Given the description of an element on the screen output the (x, y) to click on. 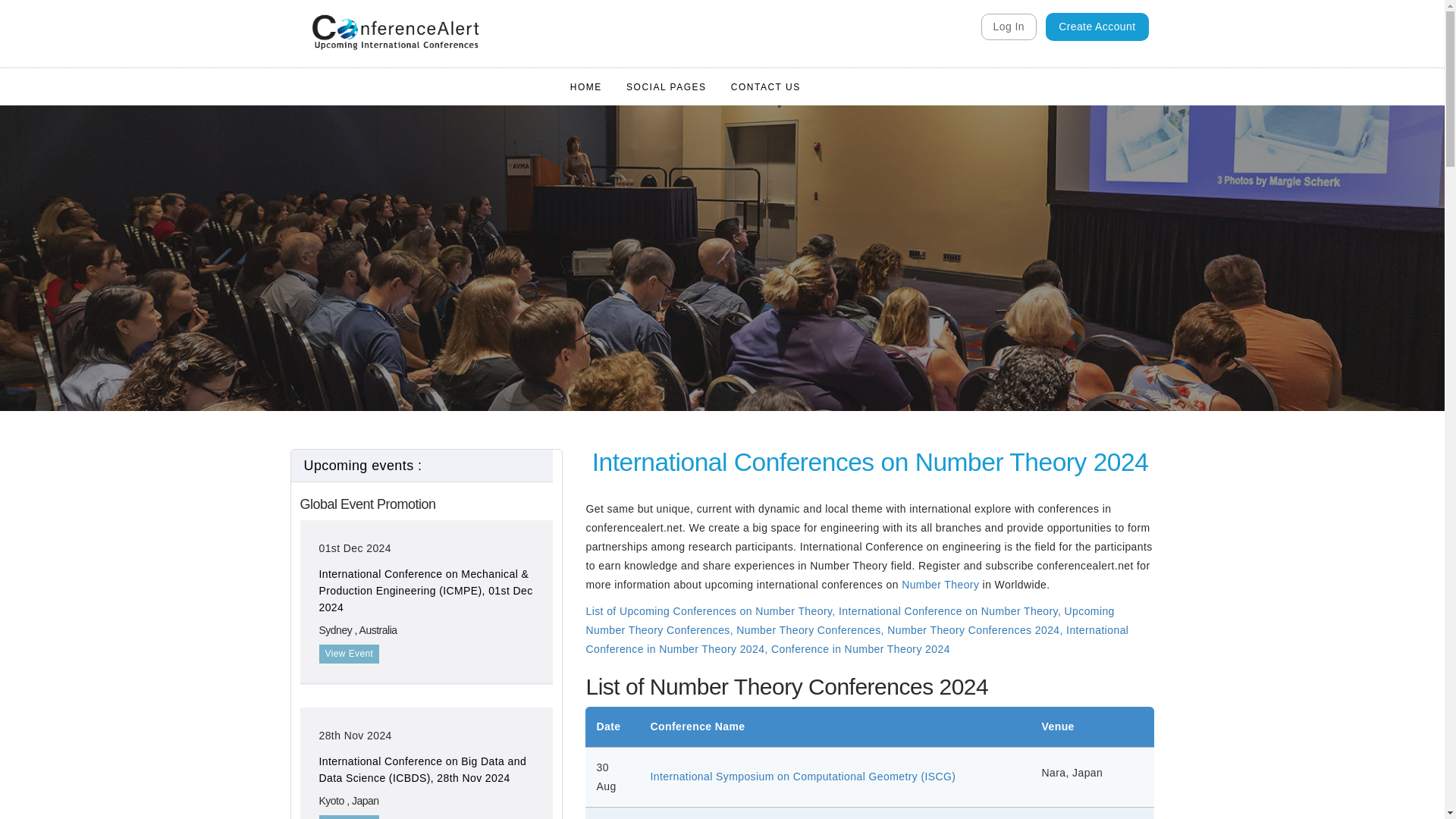
CONTACT US (765, 86)
View Event (348, 816)
View Event (348, 653)
List of Upcoming Conferences on Number Theory, (709, 611)
Create Account (1096, 26)
SOCIAL PAGES (665, 86)
Number Theory Conferences, (811, 630)
International Conference on Number Theory, (951, 611)
Number Theory (939, 584)
HOME (585, 86)
